Given the description of an element on the screen output the (x, y) to click on. 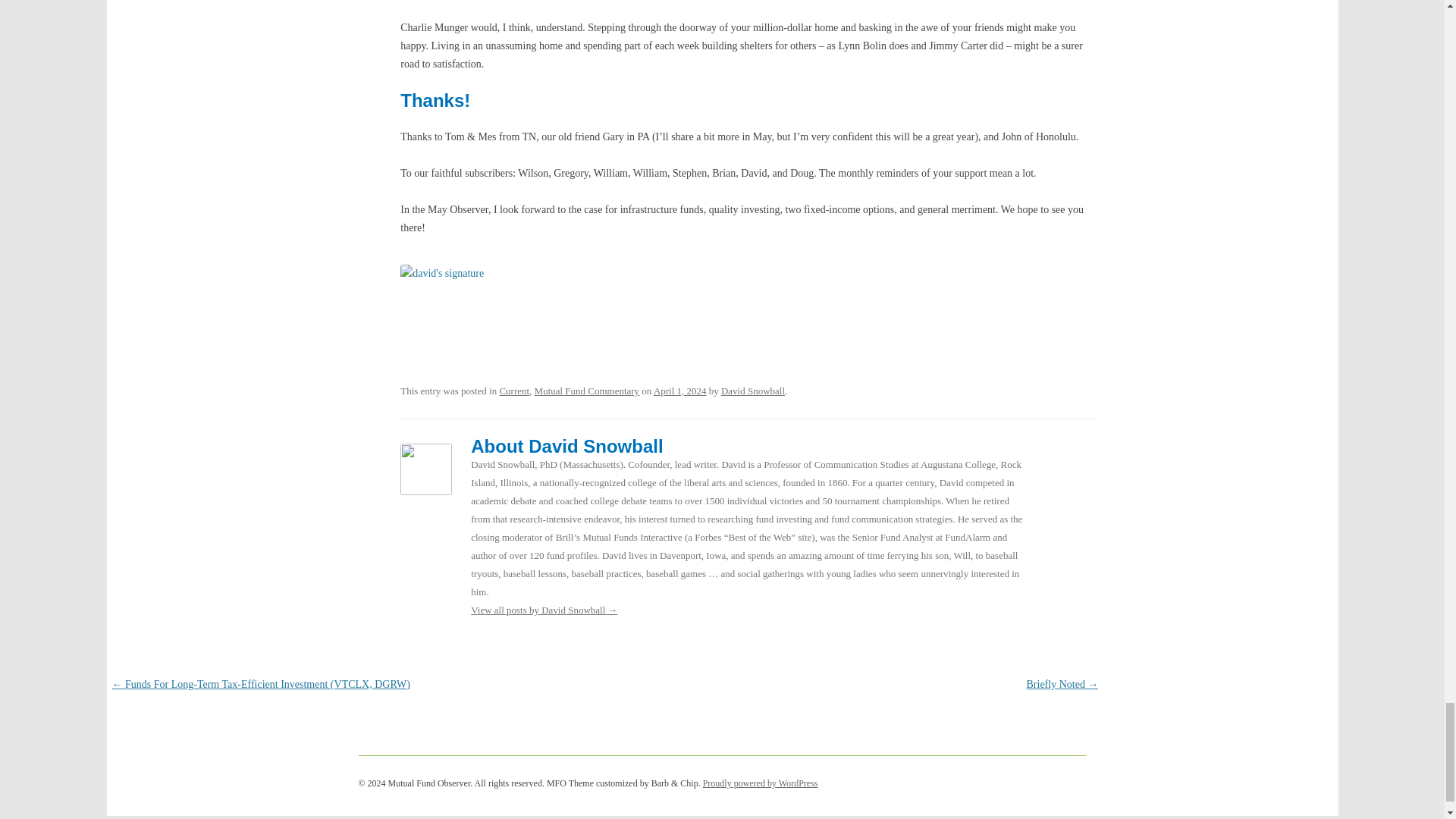
View all posts by David Snowball (752, 390)
9:39 pm (679, 390)
Semantic Personal Publishing Platform (760, 783)
